Given the description of an element on the screen output the (x, y) to click on. 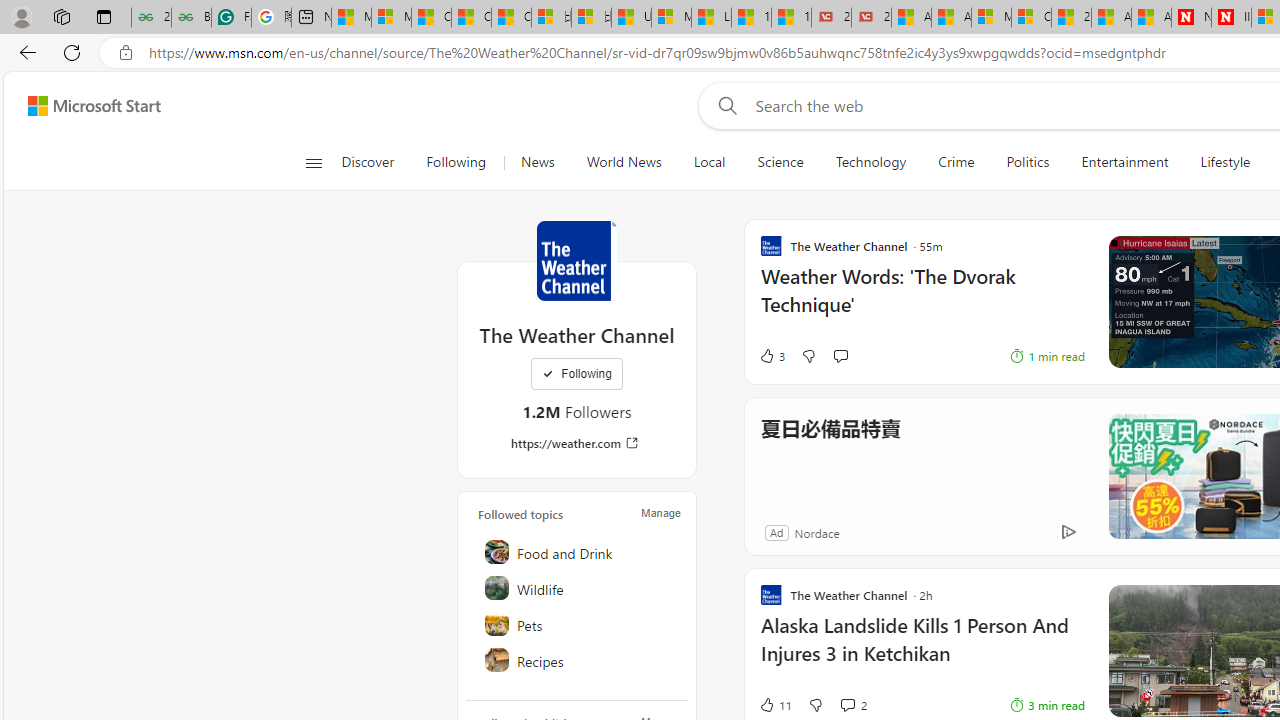
Recipes (578, 659)
Pets (578, 623)
Cloud Computing Services | Microsoft Azure (1031, 17)
